Given the description of an element on the screen output the (x, y) to click on. 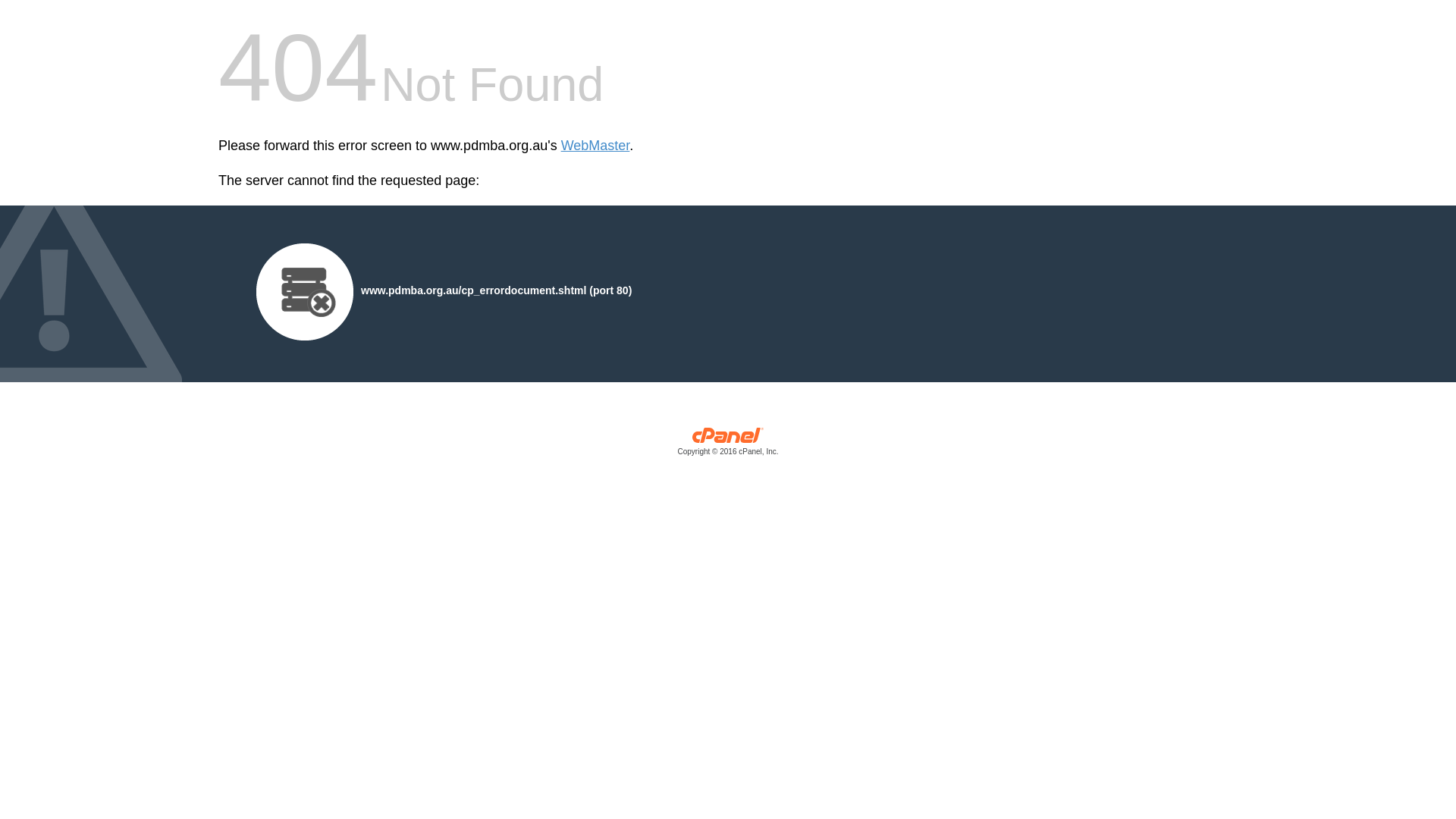
WebMaster Element type: text (595, 145)
